Given the description of an element on the screen output the (x, y) to click on. 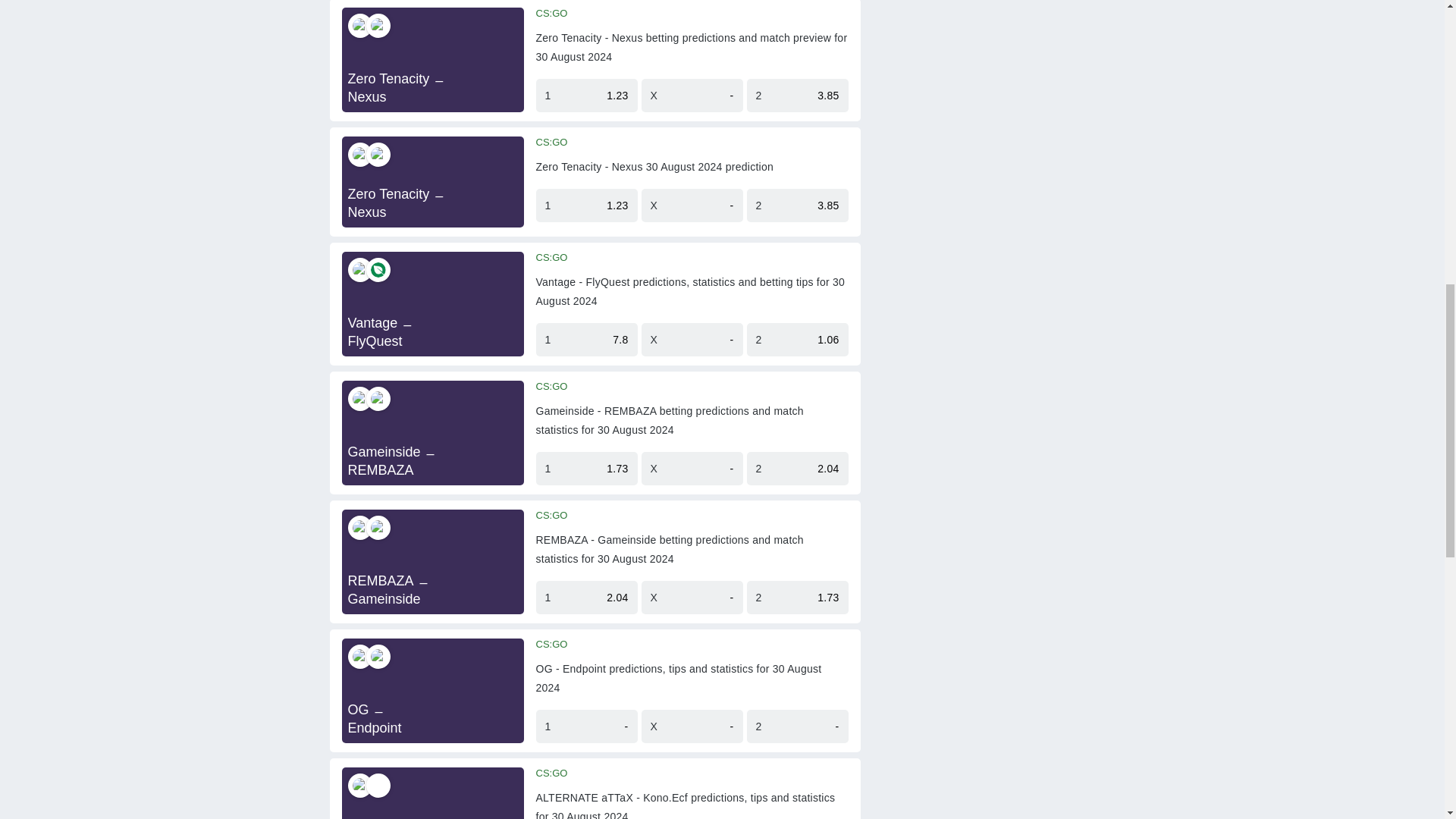
CS:GO (551, 142)
CS:GO (551, 13)
Zero Tenacity - Nexus 30 August 2024 prediction (654, 167)
CS:GO (551, 386)
CS:GO (551, 257)
